Given the description of an element on the screen output the (x, y) to click on. 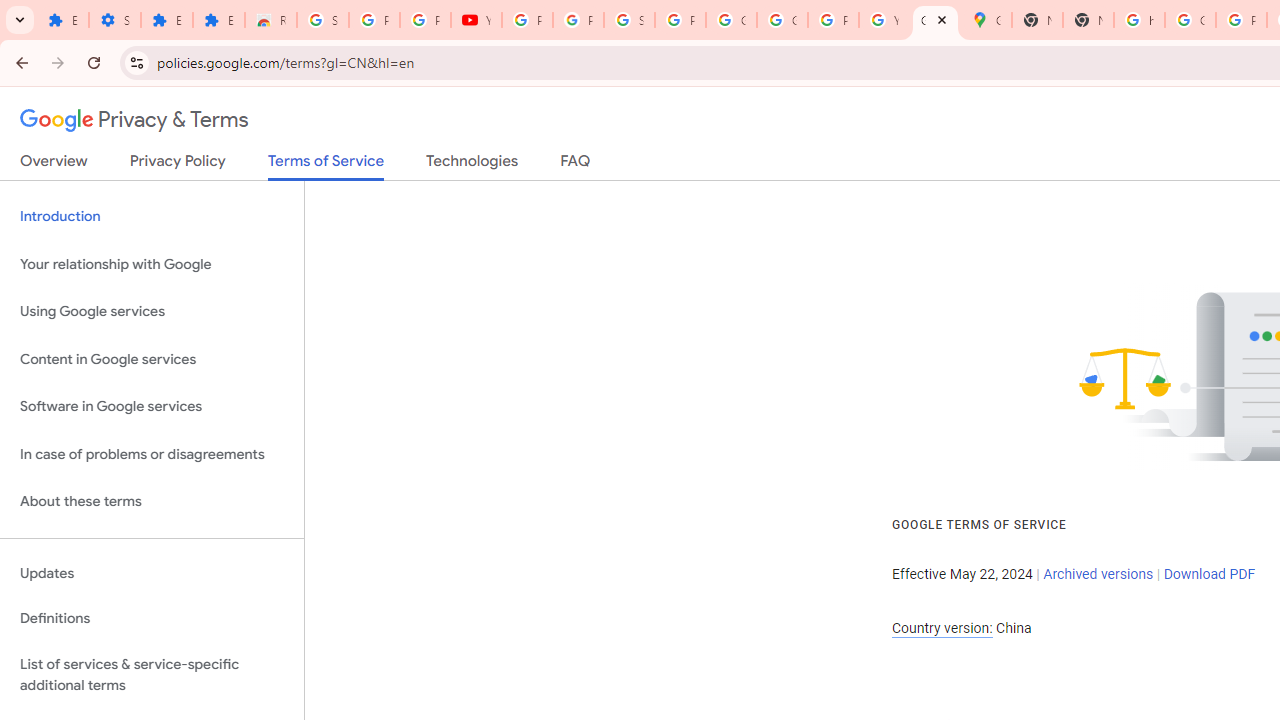
Software in Google services (152, 407)
Google Account (731, 20)
YouTube (884, 20)
